Given the description of an element on the screen output the (x, y) to click on. 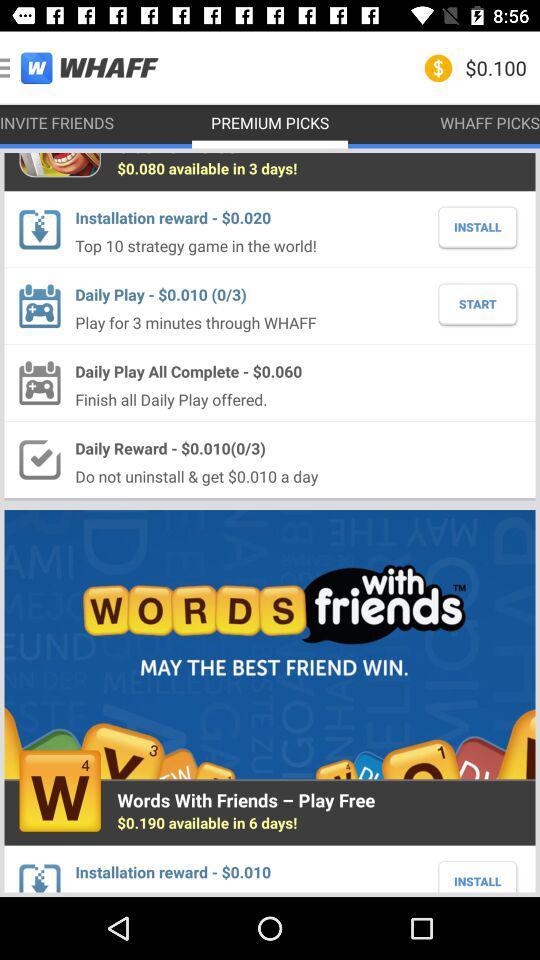
tap the invite friends item (57, 122)
